Given the description of an element on the screen output the (x, y) to click on. 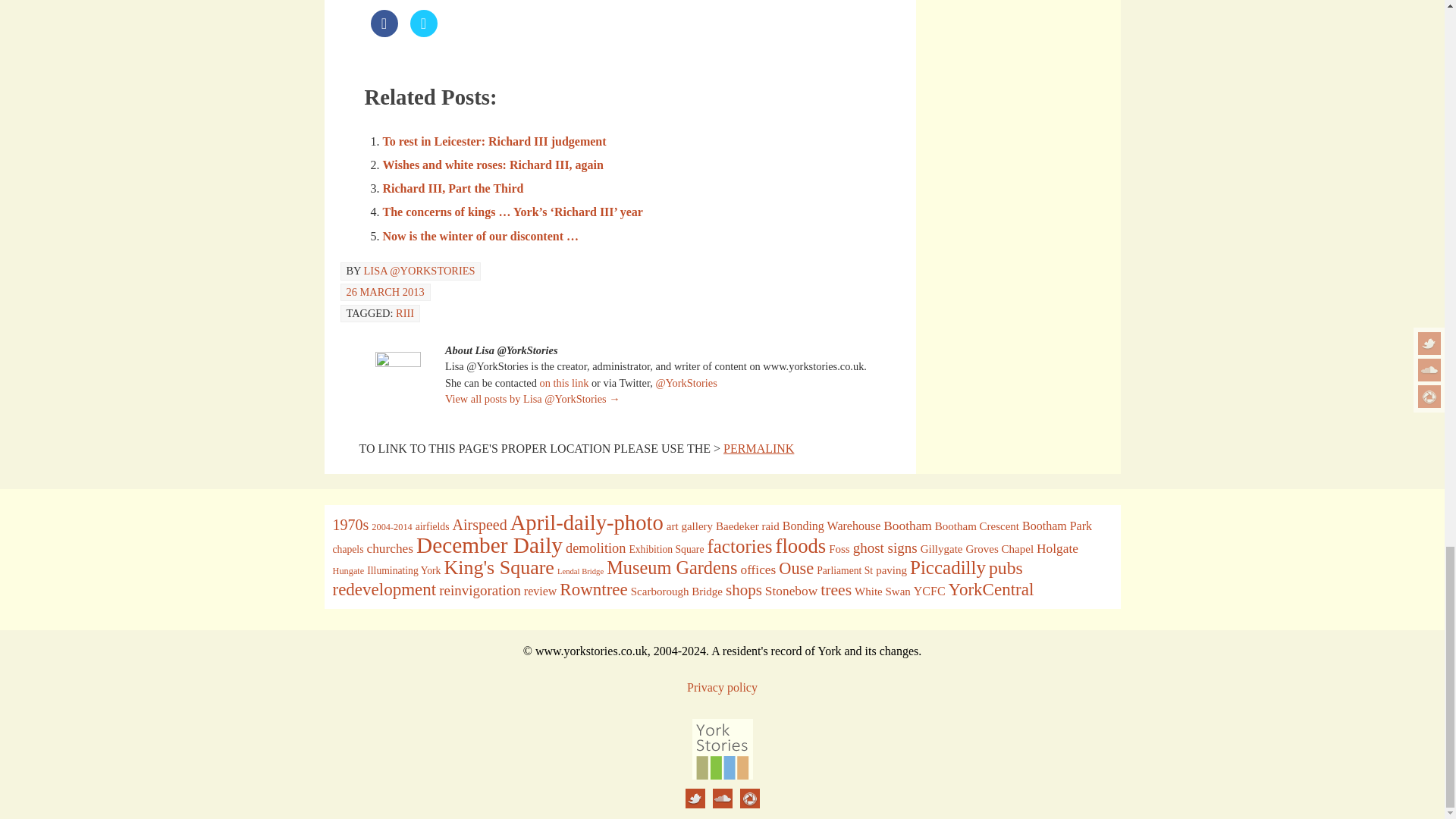
26 MARCH 2013 (384, 291)
RIII (404, 313)
Richard III, Part the Third (451, 187)
on this link (564, 382)
To rest in Leicester: Richard III judgement (493, 141)
Wishes and white roses: Richard III, again (491, 164)
